Given the description of an element on the screen output the (x, y) to click on. 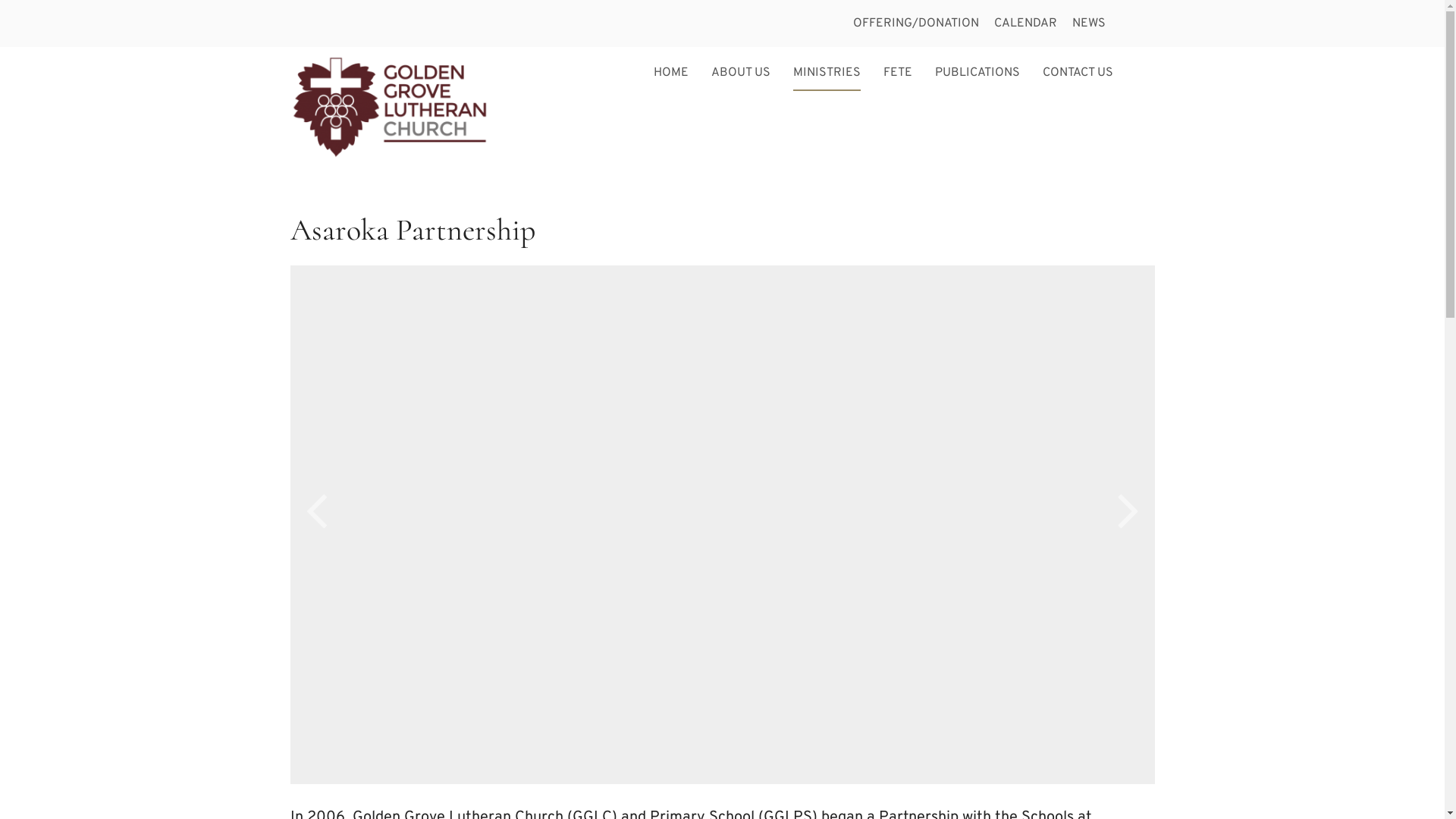
PUBLICATIONS Element type: text (976, 72)
ABOUT US Element type: text (740, 72)
CALENDAR Element type: text (1024, 23)
NEWS Element type: text (1088, 23)
MINISTRIES Element type: text (826, 77)
CONTACT US Element type: text (1076, 72)
HOME Element type: text (670, 72)
OFFERING/DONATION Element type: text (915, 23)
FETE Element type: text (896, 72)
